Given the description of an element on the screen output the (x, y) to click on. 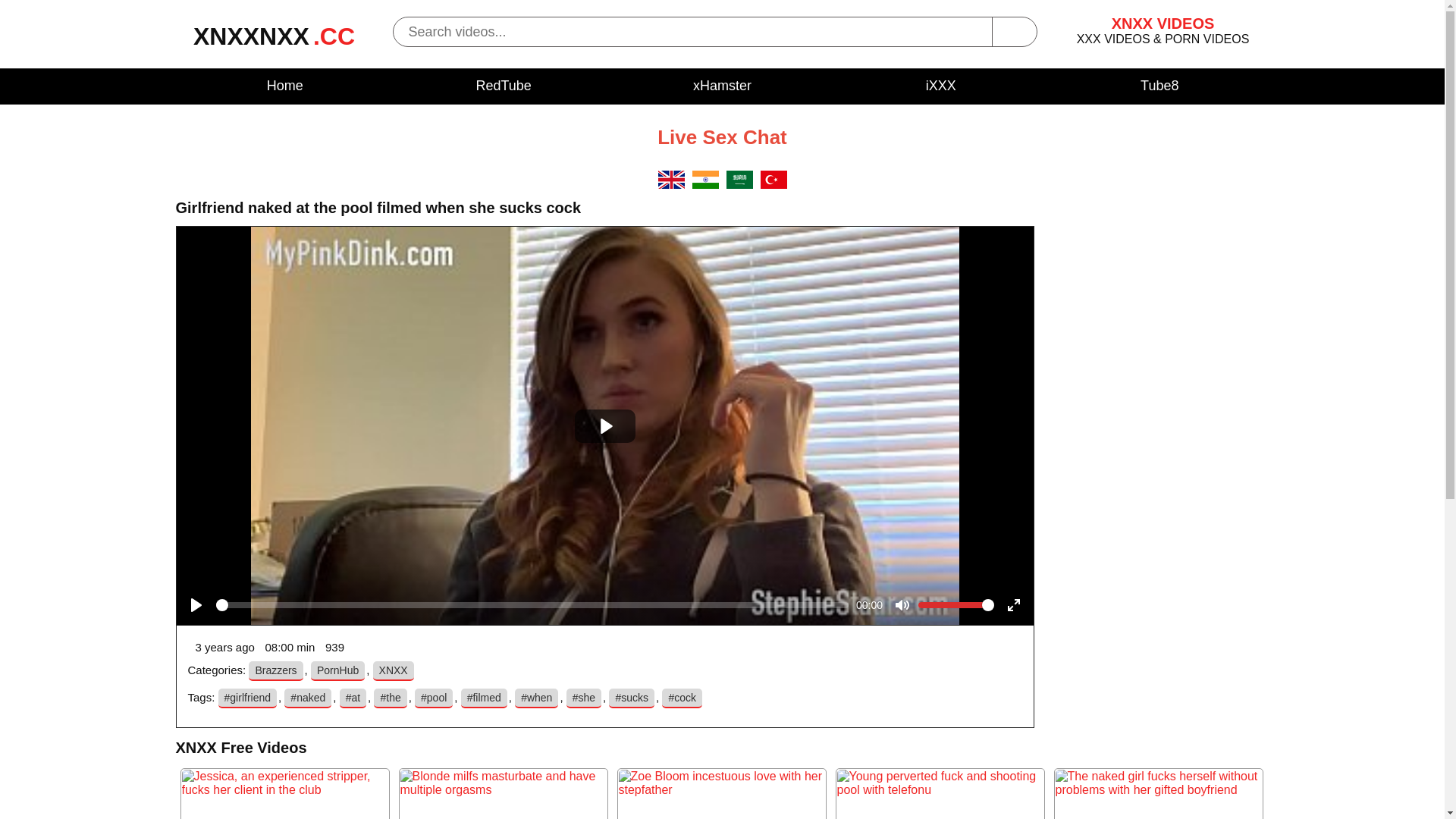
#she Element type: text (583, 698)
PornHub Element type: text (337, 670)
TR Element type: hover (772, 184)
#when Element type: text (536, 698)
SA Element type: hover (739, 184)
Live Sex Chat Element type: text (722, 136)
RedTube Element type: text (503, 85)
EN Element type: hover (671, 184)
#sucks Element type: text (631, 698)
Tube8 Element type: text (1159, 85)
XNXXNXX.CC Element type: text (274, 41)
#cock Element type: text (682, 698)
#at Element type: text (352, 698)
#filmed Element type: text (484, 698)
#girlfriend Element type: text (247, 698)
xHamster Element type: text (721, 85)
iXXX Element type: text (940, 85)
IN Element type: hover (704, 184)
#naked Element type: text (307, 698)
Home Element type: text (284, 85)
Brazzers Element type: text (275, 670)
#pool Element type: text (433, 698)
#the Element type: text (389, 698)
XNXX Element type: text (393, 670)
